Given the description of an element on the screen output the (x, y) to click on. 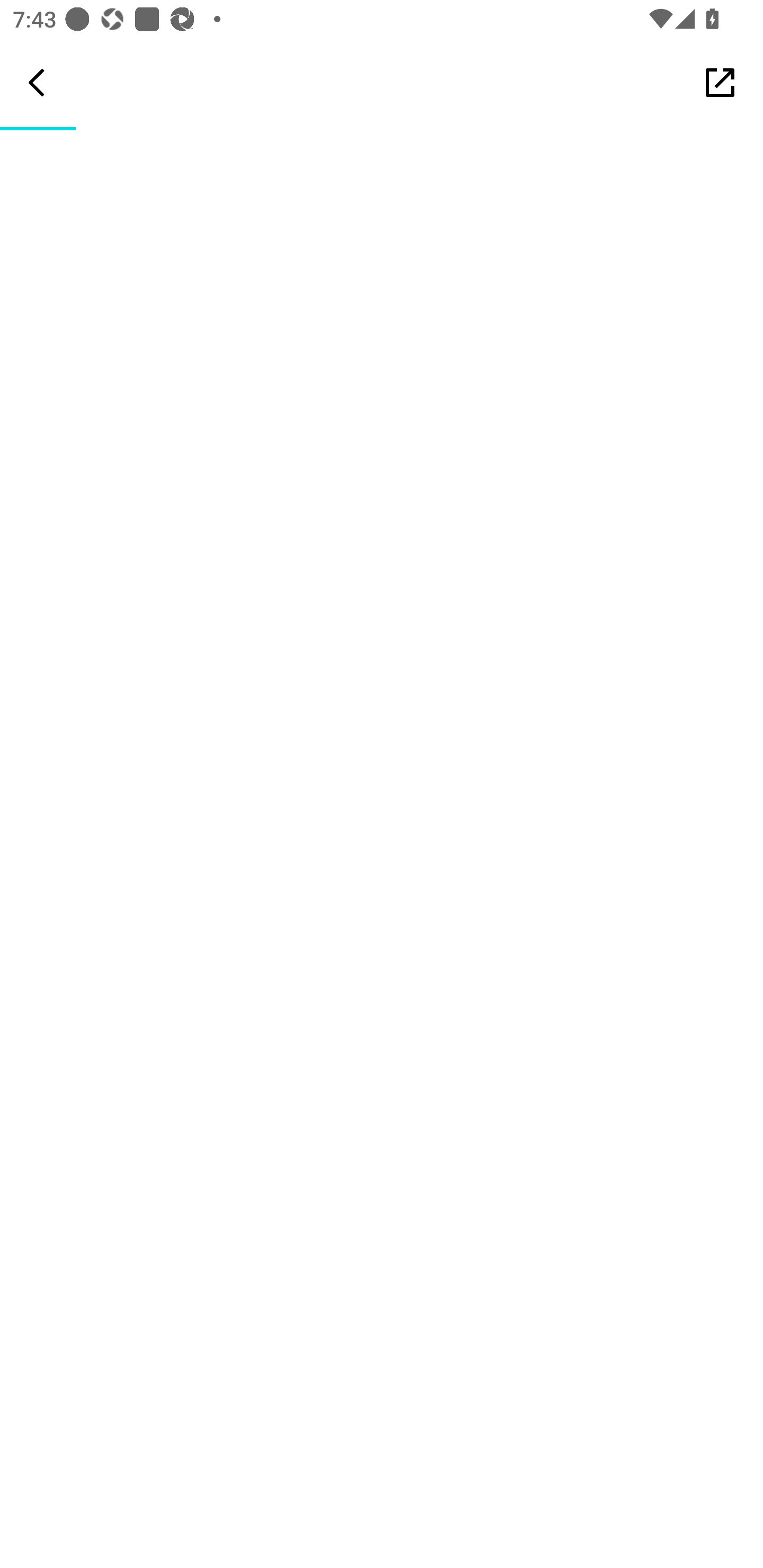
Navigate up (36, 82)
